Given the description of an element on the screen output the (x, y) to click on. 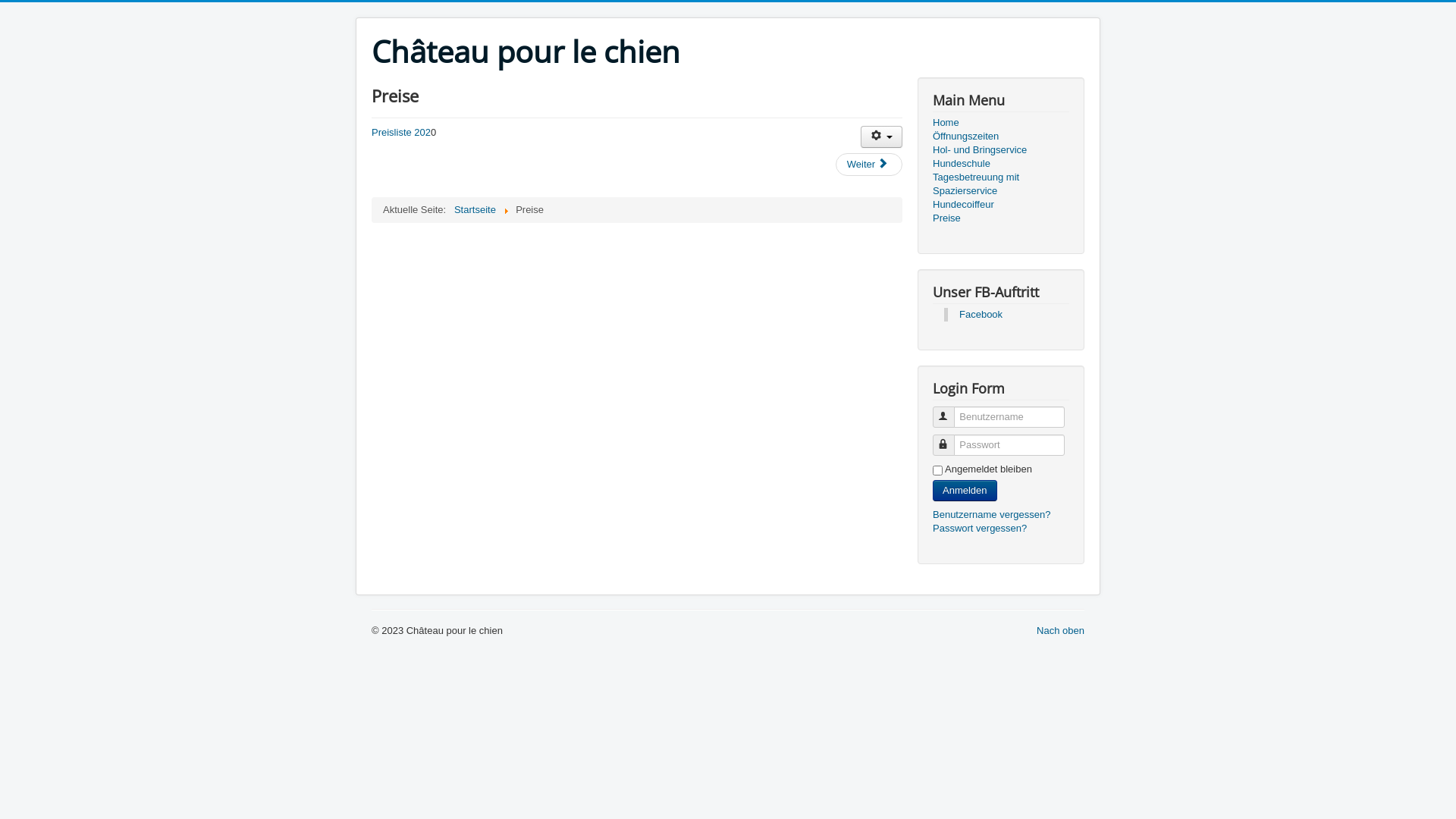
Preisliste 202 Element type: text (400, 132)
Hundecoiffeur Element type: text (1000, 204)
Hol- und Bringservice Element type: text (1000, 149)
Preise Element type: text (1000, 218)
Hundeschule Element type: text (1000, 163)
Passwort vergessen? Element type: text (979, 527)
Startseite Element type: text (474, 209)
Tagesbetreuung mit Spazierservice Element type: text (1000, 183)
Home Element type: text (1000, 122)
Benutzername vergessen? Element type: text (991, 514)
Nach oben Element type: text (1060, 630)
Weiter Element type: text (868, 164)
Facebook Element type: text (980, 314)
Anmelden Element type: text (964, 490)
